Given the description of an element on the screen output the (x, y) to click on. 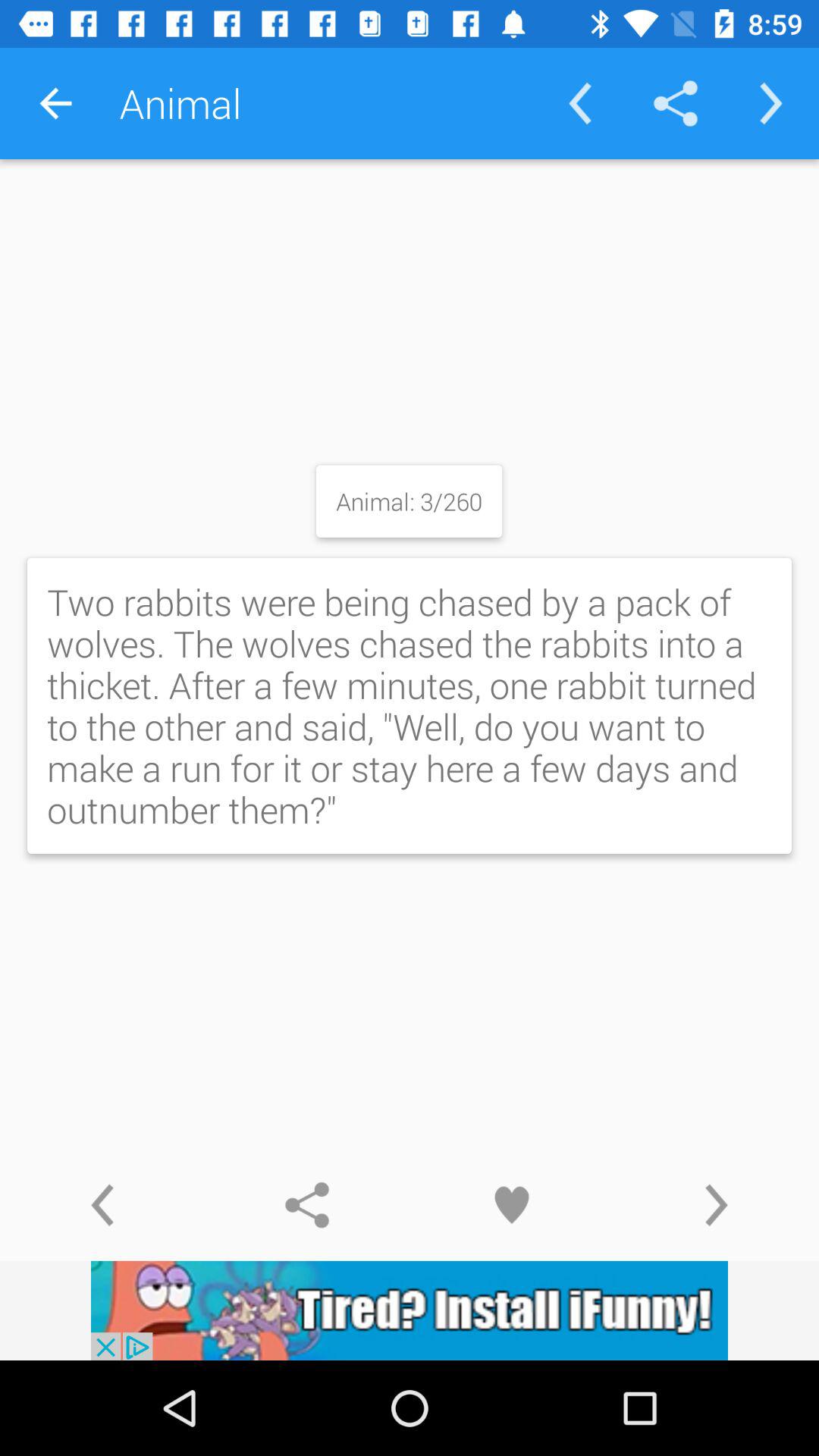
favorite content (511, 1205)
